Given the description of an element on the screen output the (x, y) to click on. 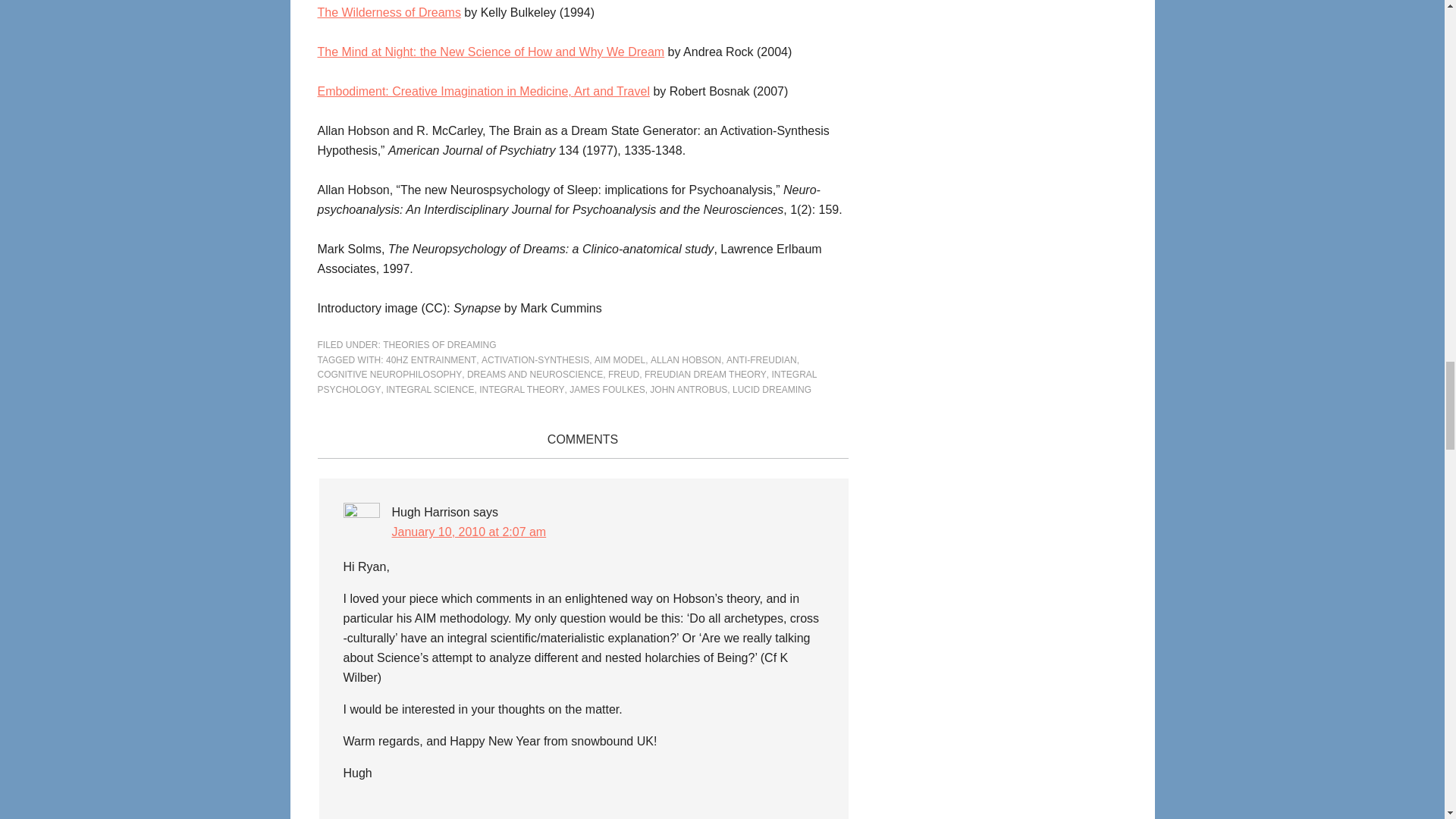
COGNITIVE NEUROPHILOSOPHY (389, 374)
ACTIVATION-SYNTHESIS (535, 359)
ALLAN HOBSON (685, 359)
FREUD (623, 374)
AIM MODEL (619, 359)
FREUDIAN DREAM THEORY (706, 374)
THEORIES OF DREAMING (439, 344)
DREAMS AND NEUROSCIENCE (534, 374)
INTEGRAL SCIENCE (429, 389)
Embodiment: Creative Imagination in Medicine, Art and Travel (483, 91)
The Mind at Night: the New Science of How and Why We Dream (490, 51)
INTEGRAL PSYCHOLOGY (566, 381)
The Wilderness of Dreams (388, 11)
ANTI-FREUDIAN (761, 359)
INTEGRAL THEORY (521, 389)
